Given the description of an element on the screen output the (x, y) to click on. 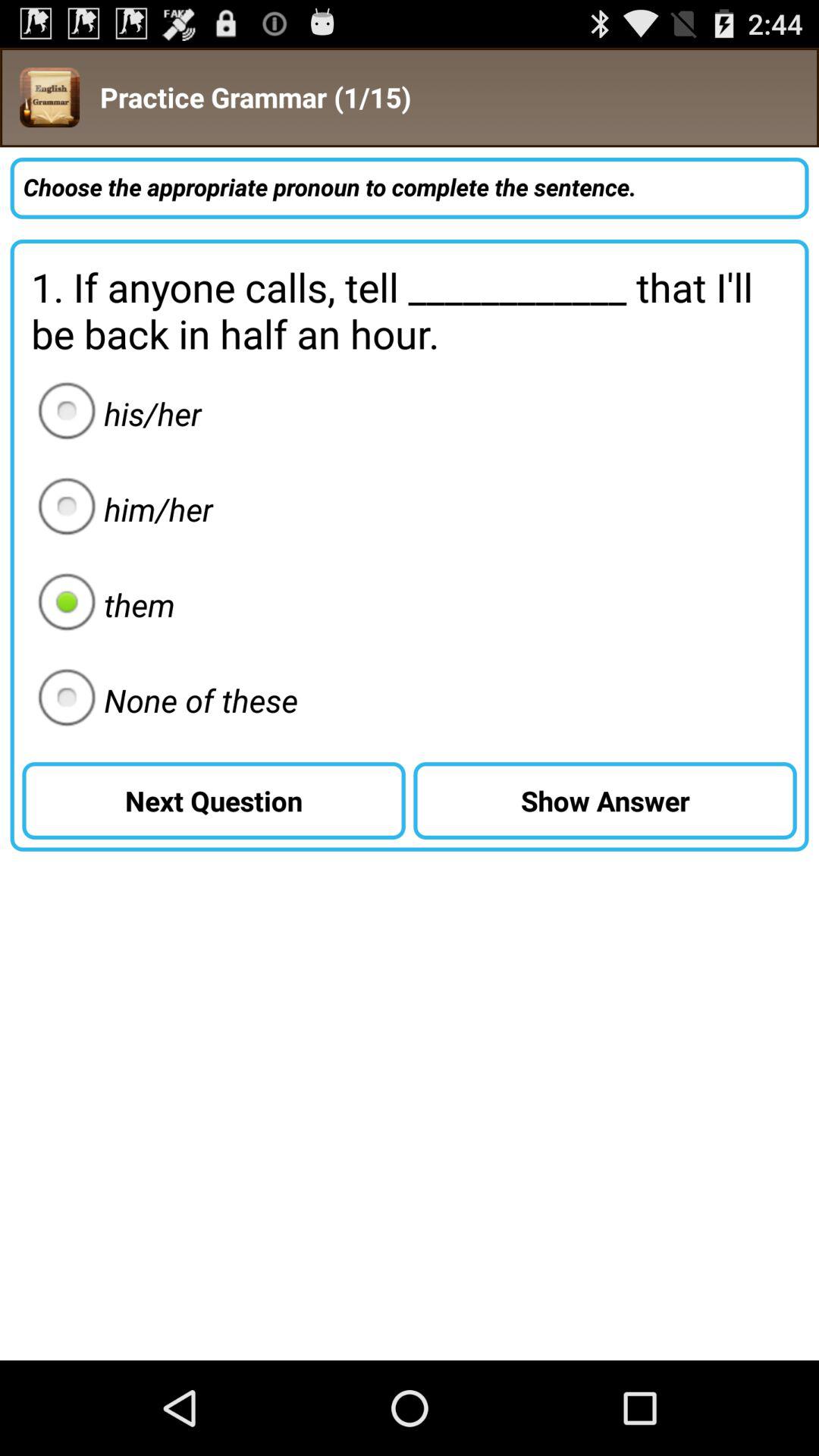
select item below the him/her (101, 604)
